Given the description of an element on the screen output the (x, y) to click on. 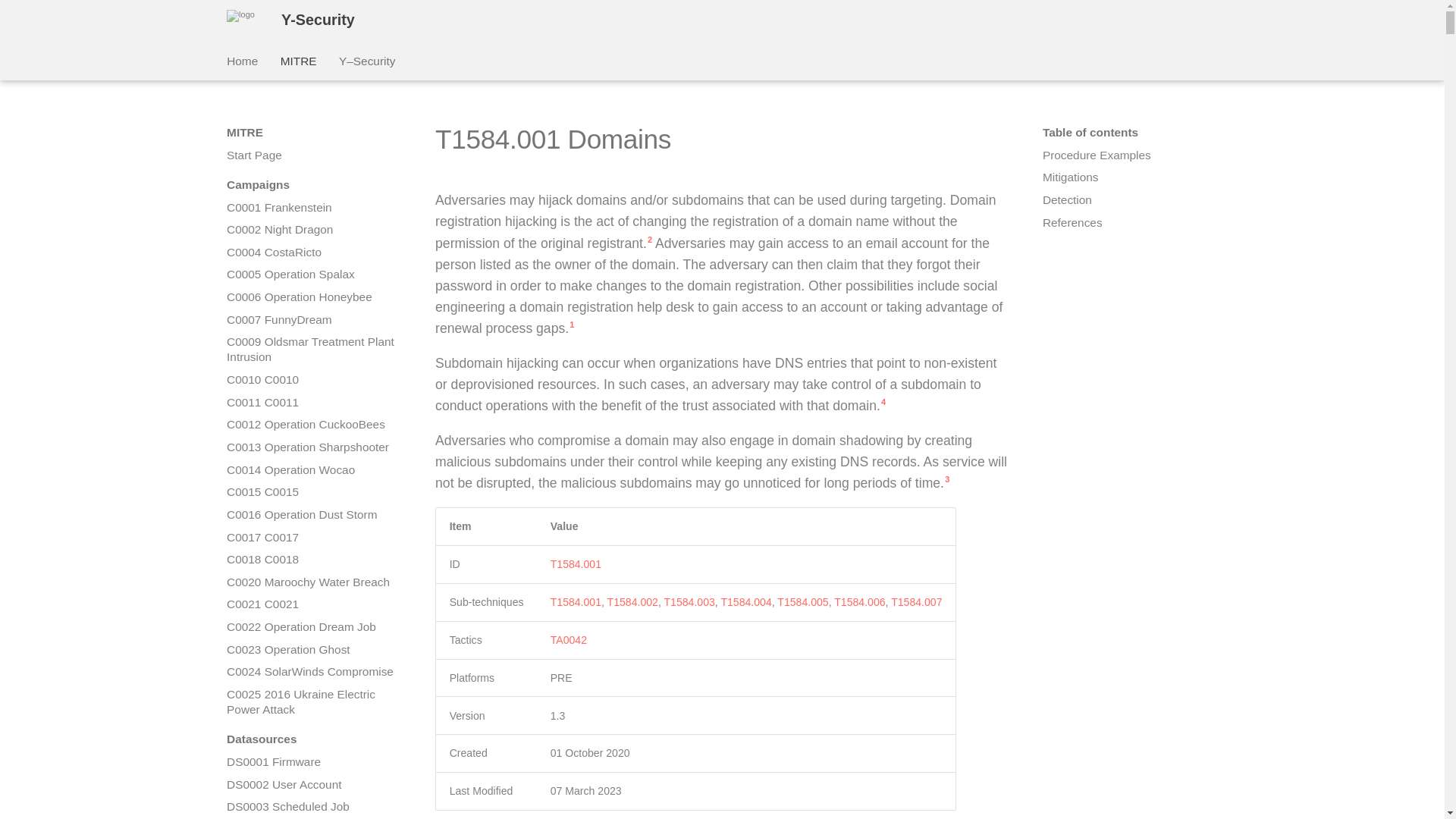
Home (242, 60)
C0012 Operation CuckooBees (312, 424)
C0010 C0010 (312, 379)
DS0003 Scheduled Job (312, 806)
C0015 C0015 (312, 491)
C0007 FunnyDream (312, 319)
C0001 Frankenstein (312, 207)
C0025 2016 Ukraine Electric Power Attack (312, 702)
Start Page (312, 155)
C0017 C0017 (312, 537)
